Given the description of an element on the screen output the (x, y) to click on. 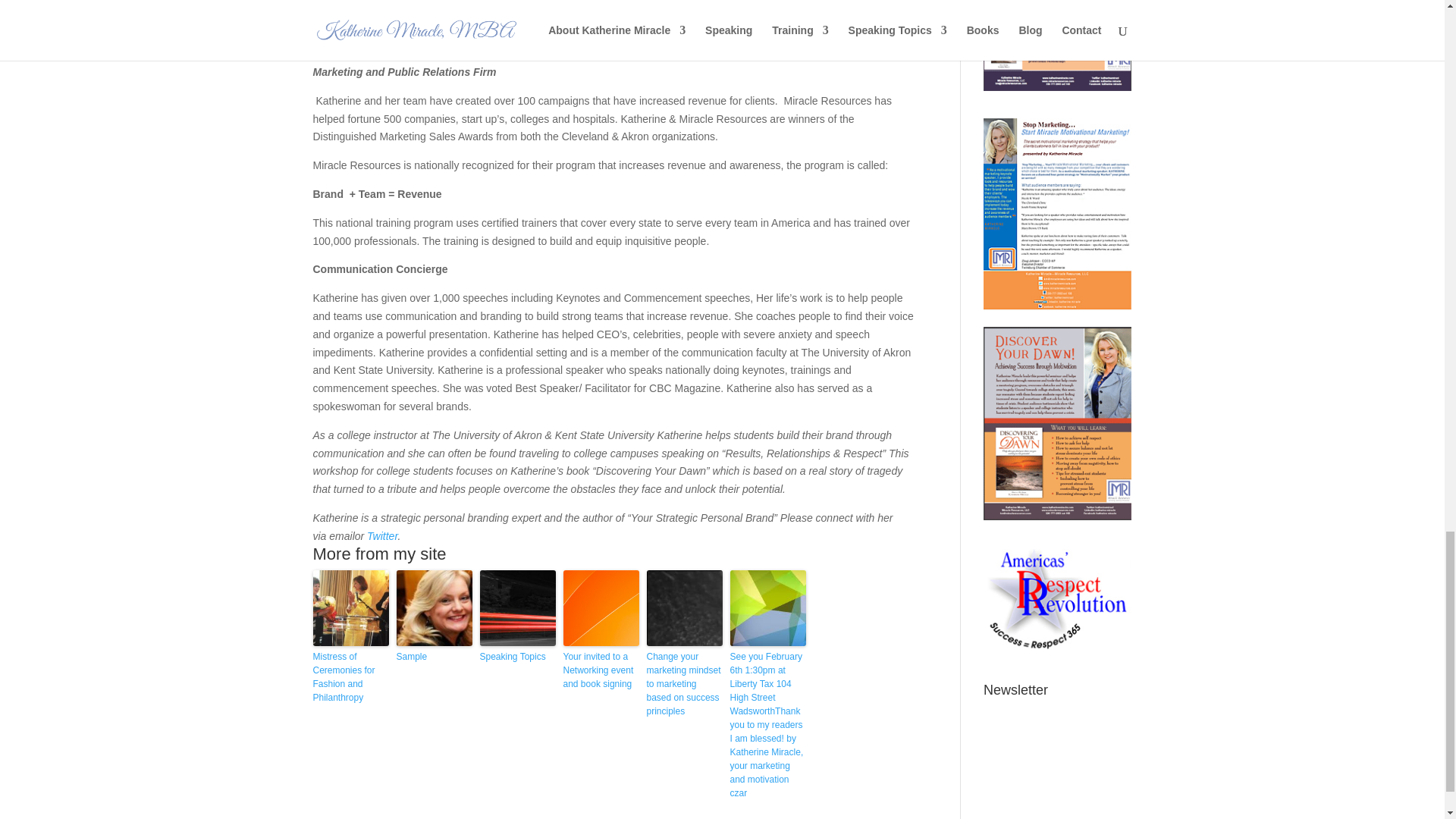
Mistress of Ceremonies for Fashion and Philanthropy (350, 677)
Twitter (381, 535)
Sample (433, 656)
Your invited to a Networking event and book signing (600, 670)
Speaking Topics (516, 656)
